Given the description of an element on the screen output the (x, y) to click on. 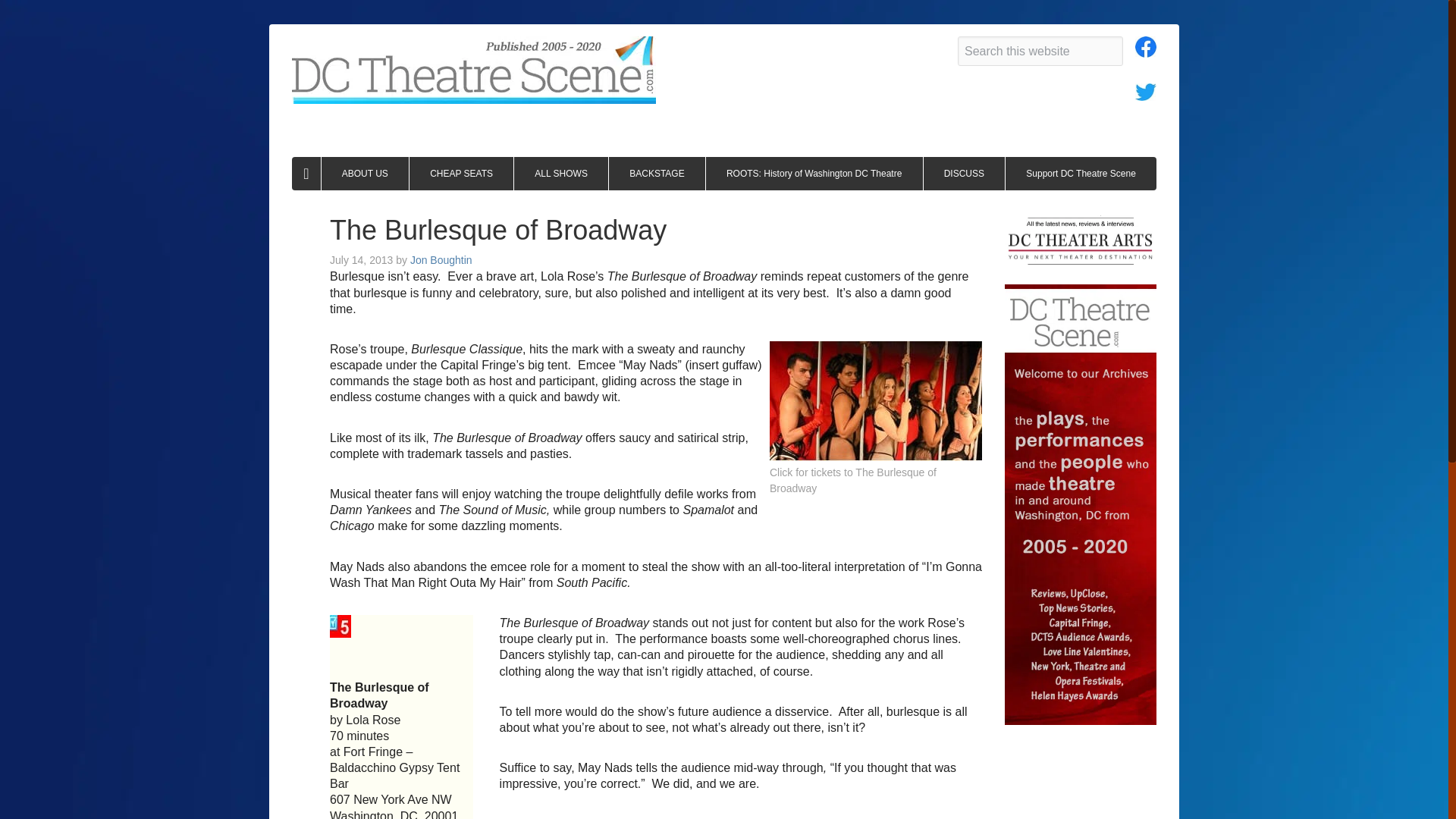
ROOTS: History of Washington DC Theatre (814, 173)
Jon Boughtin (440, 259)
Follow DC Theatre Scene on Twitter (1145, 93)
CHEAP SEATS (461, 173)
DC Theatre Scene (474, 70)
BACKSTAGE (657, 173)
Follow DC Theatre Scene on Facebook (1145, 51)
ABOUT US (365, 173)
ALL SHOWS (560, 173)
Support DC Theatre Scene (1081, 173)
DISCUSS (964, 173)
